Given the description of an element on the screen output the (x, y) to click on. 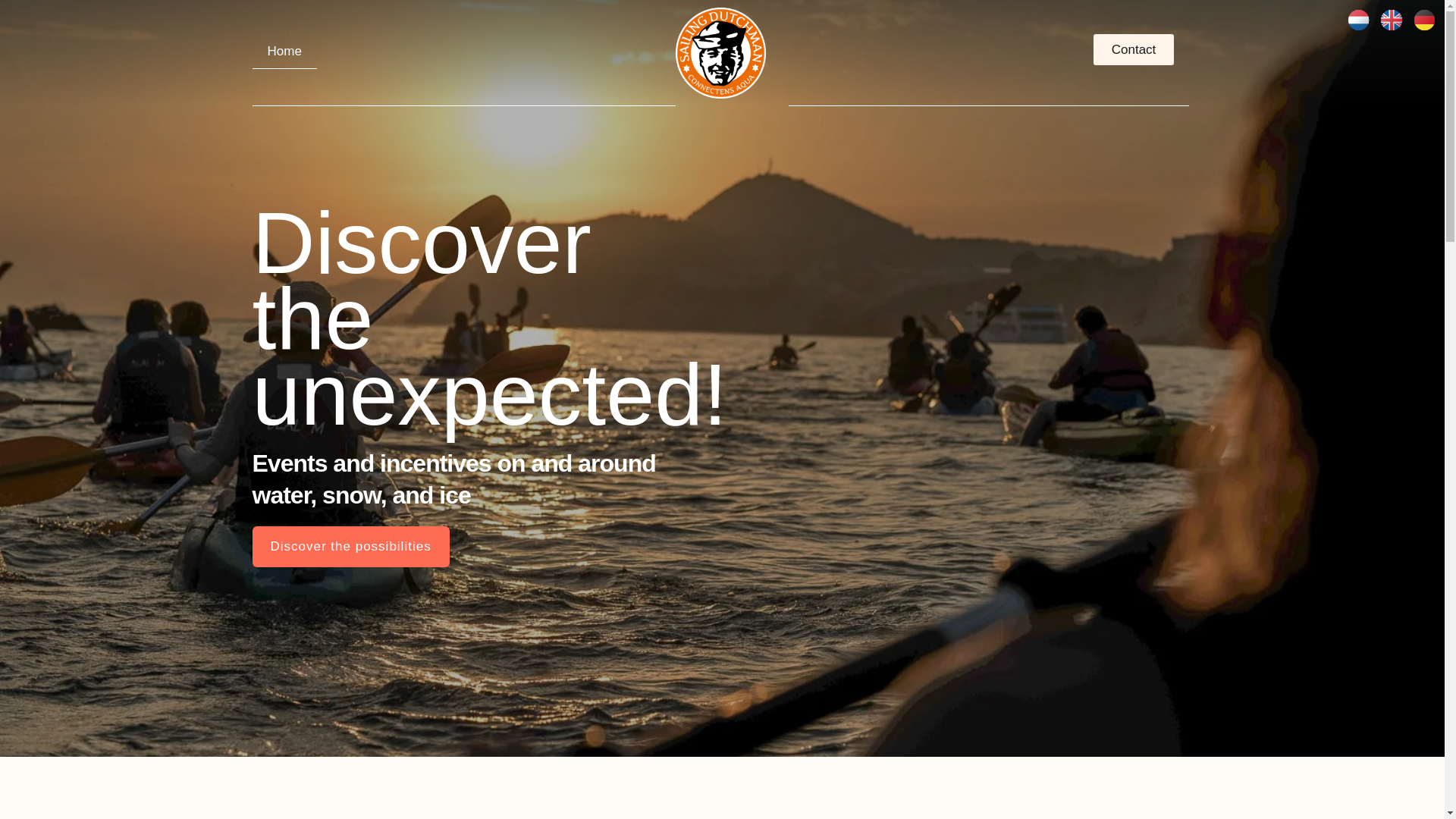
Home (283, 51)
Contact (1133, 49)
Discover the possibilities (349, 546)
